Given the description of an element on the screen output the (x, y) to click on. 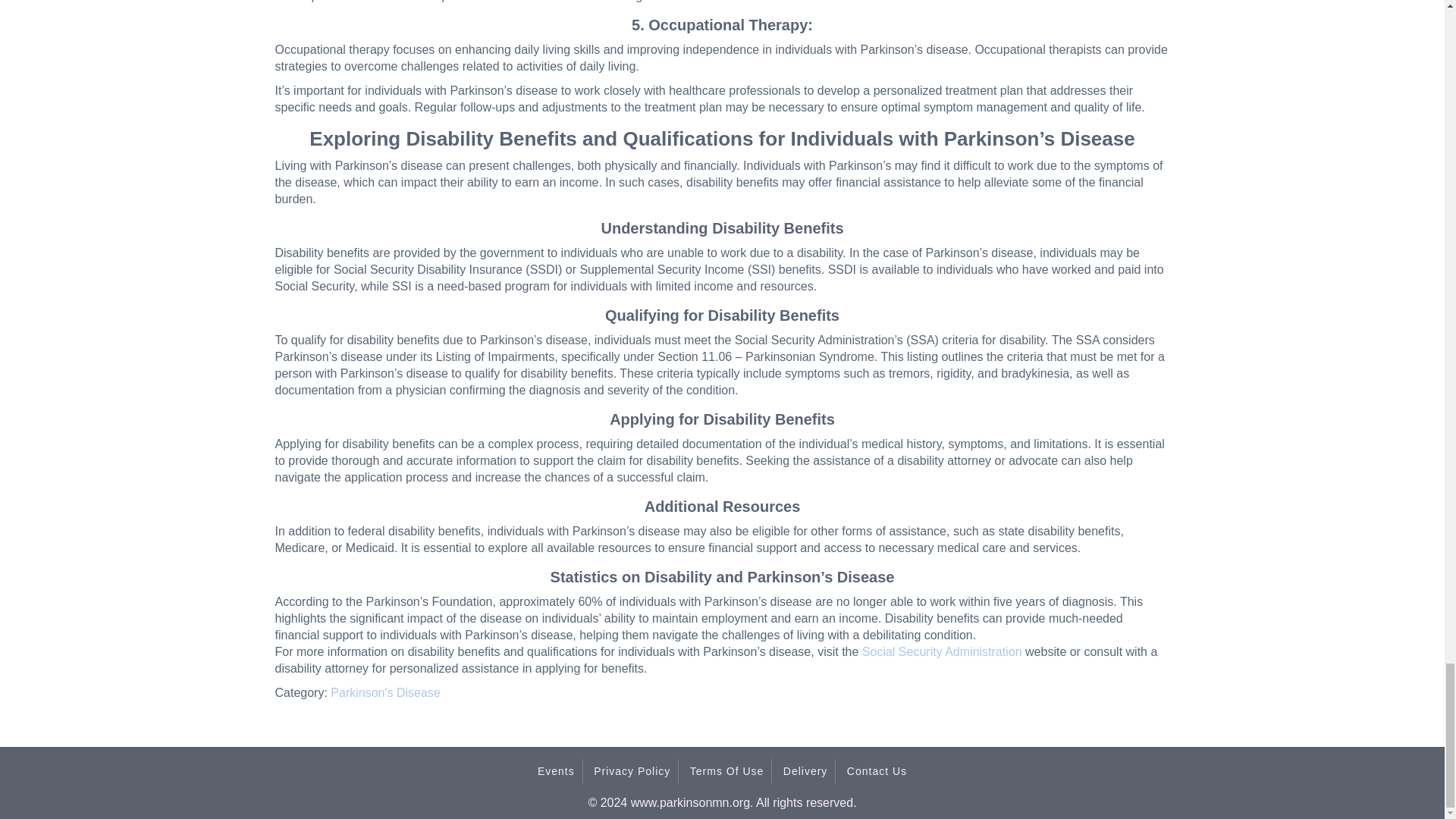
Privacy Policy (632, 770)
Events (555, 770)
Contact Us (877, 770)
Delivery (805, 770)
Parkinson's Disease (384, 692)
Terms Of Use (726, 770)
Social Security Administration (941, 651)
